Given the description of an element on the screen output the (x, y) to click on. 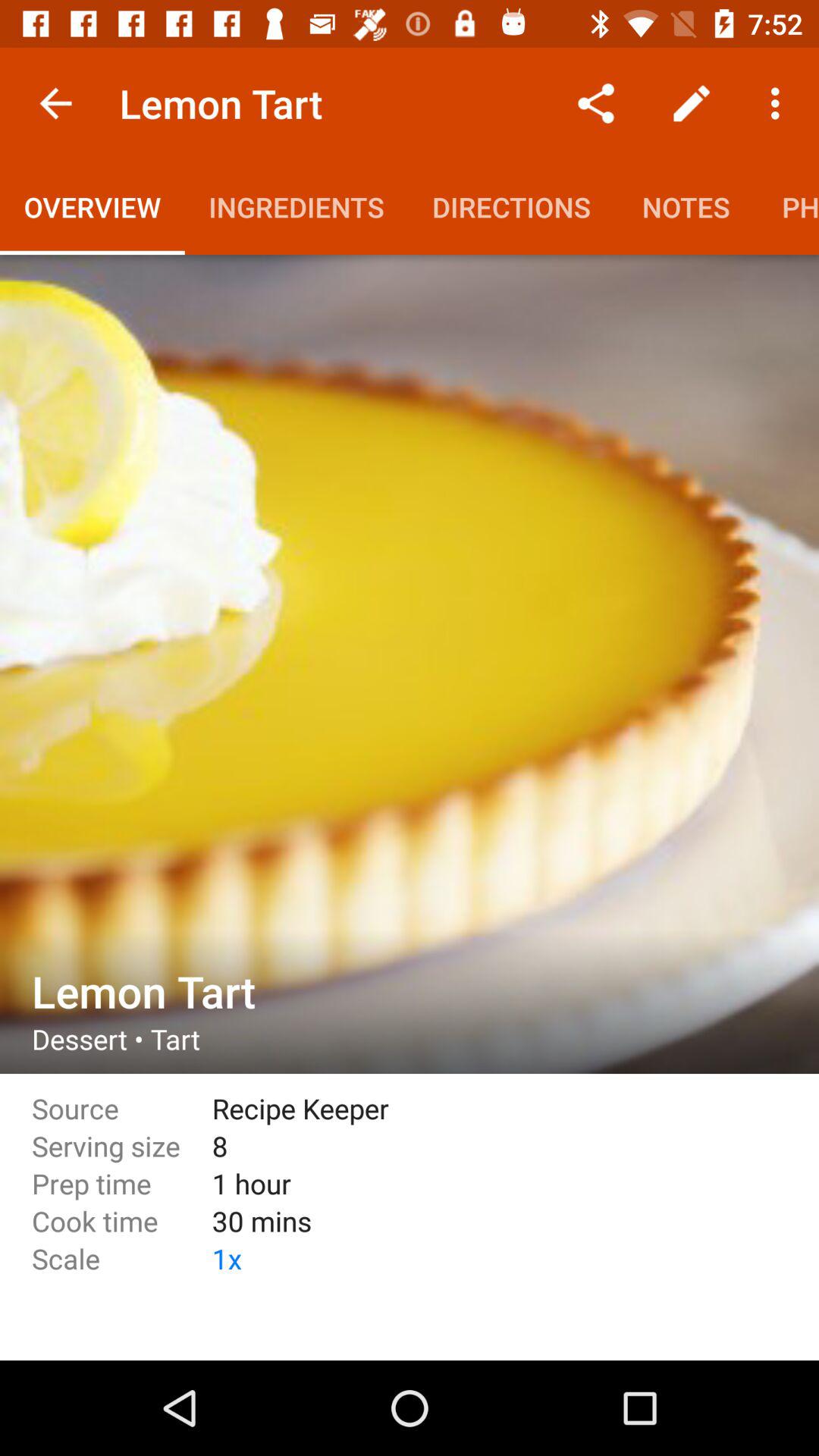
launch item to the left of lemon tart item (55, 103)
